Given the description of an element on the screen output the (x, y) to click on. 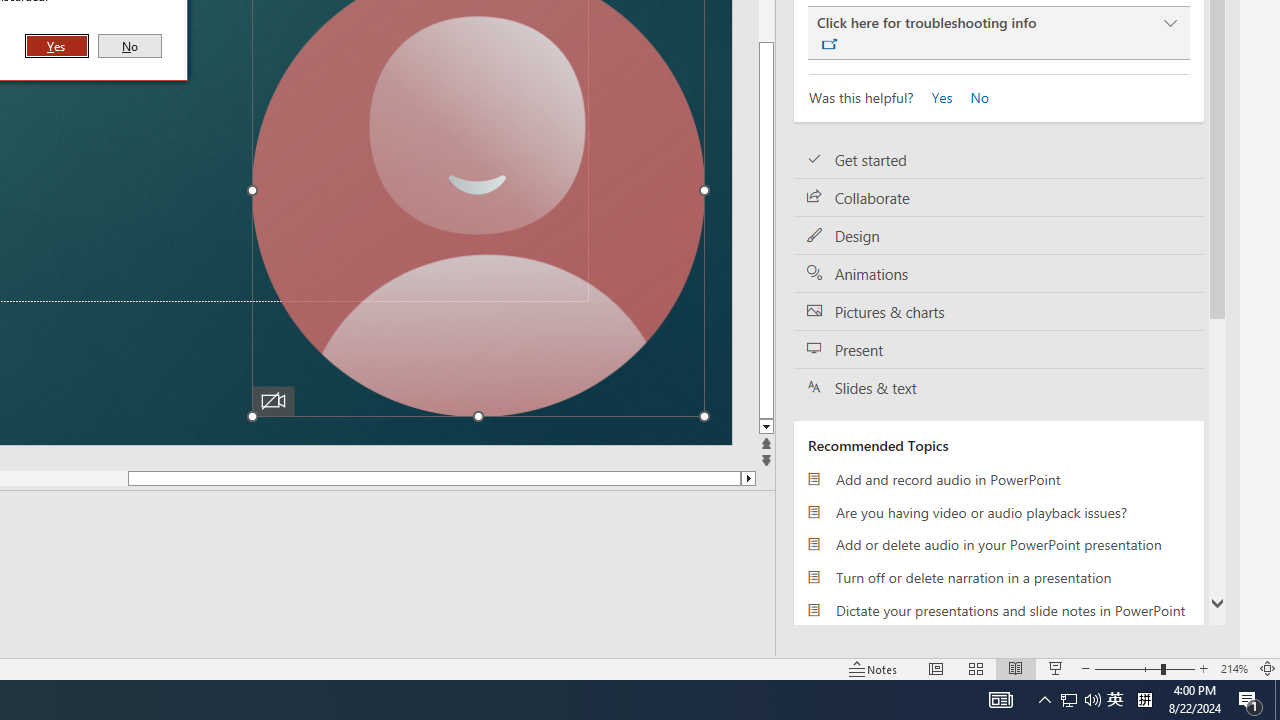
Click here for troubleshooting info (998, 33)
Yes (936, 96)
Present (998, 349)
